Given the description of an element on the screen output the (x, y) to click on. 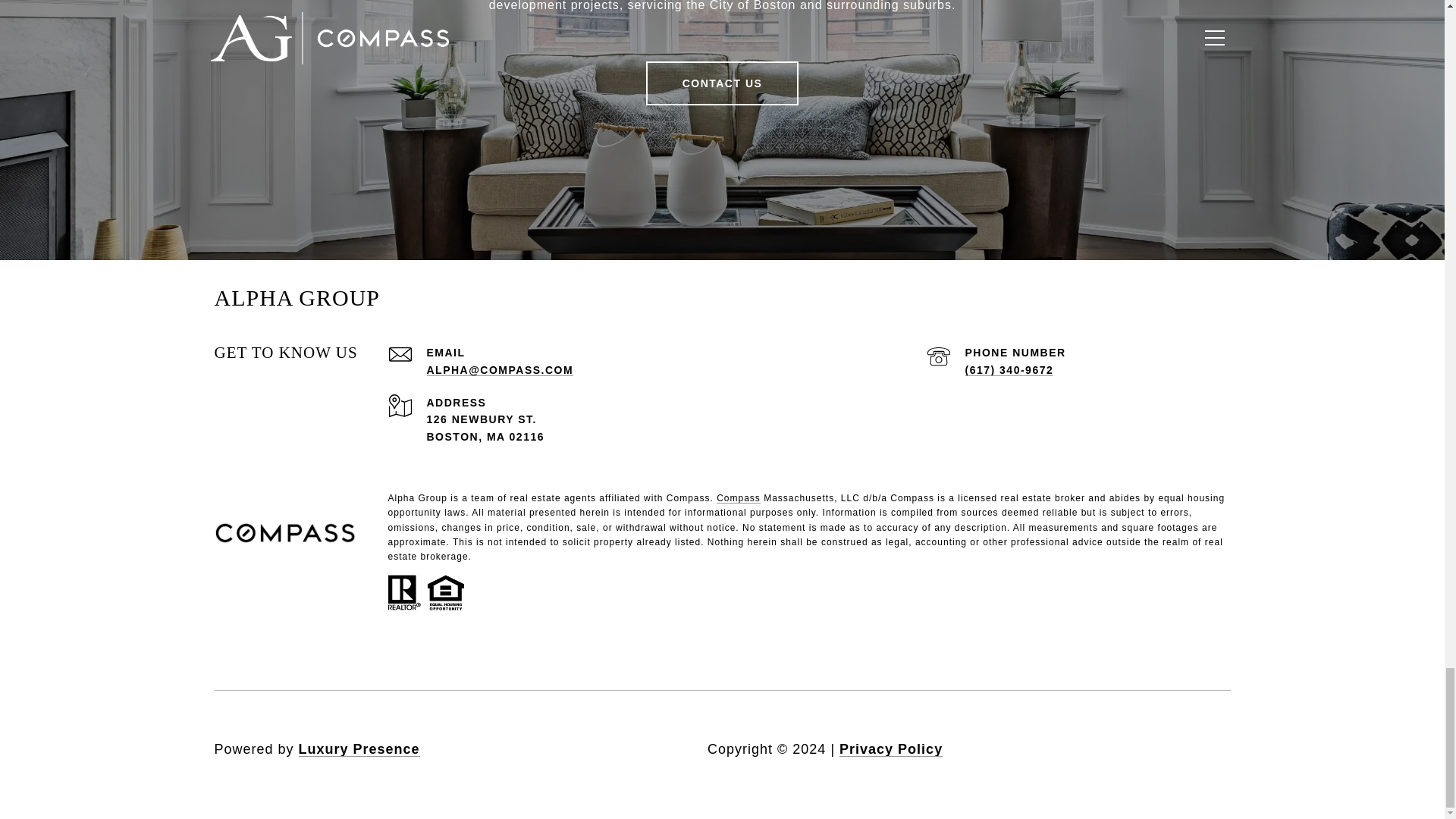
CONTACT US (722, 83)
